Given the description of an element on the screen output the (x, y) to click on. 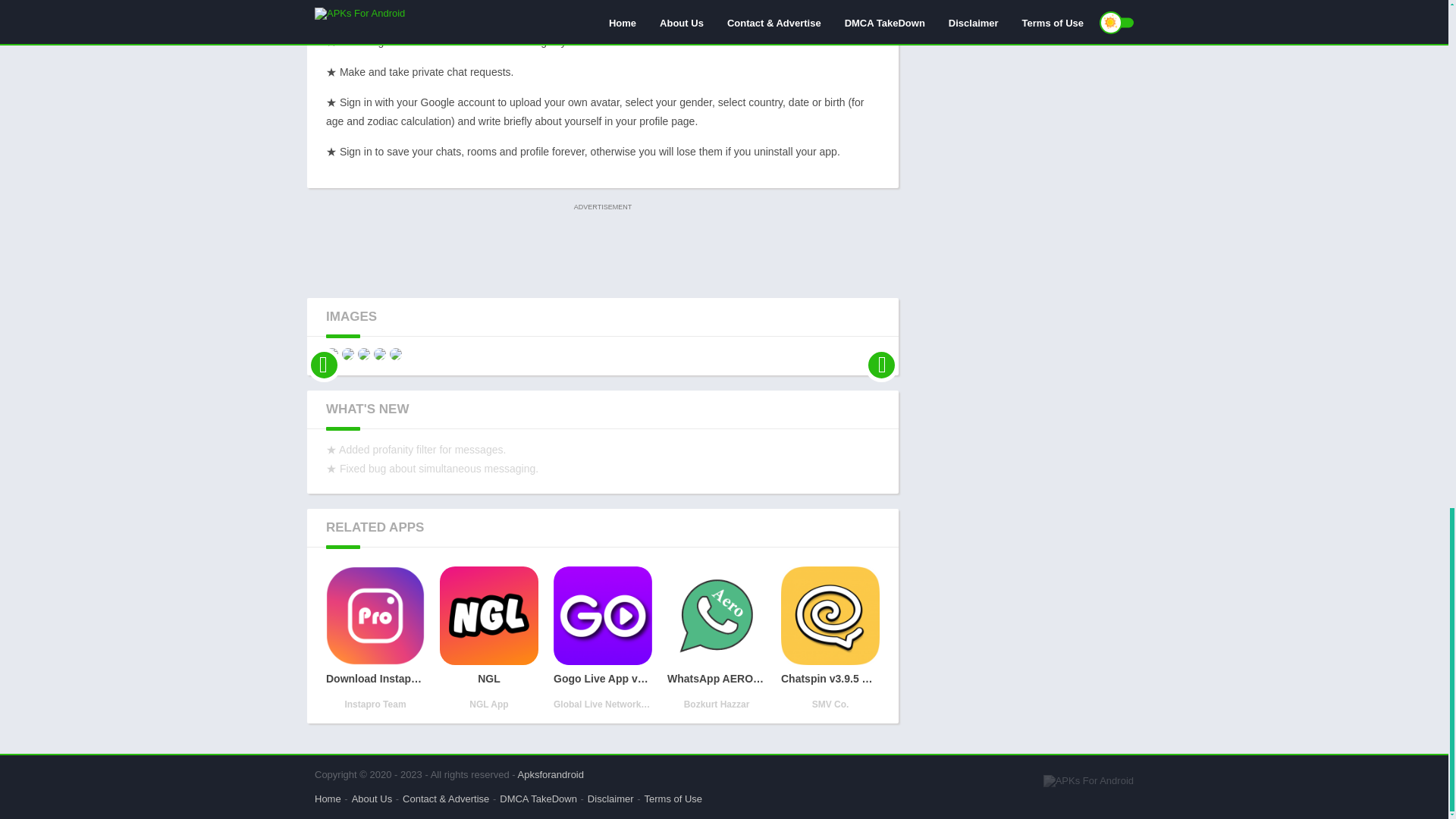
Download Instapro APK v9.70 For Android (375, 638)
